Given the description of an element on the screen output the (x, y) to click on. 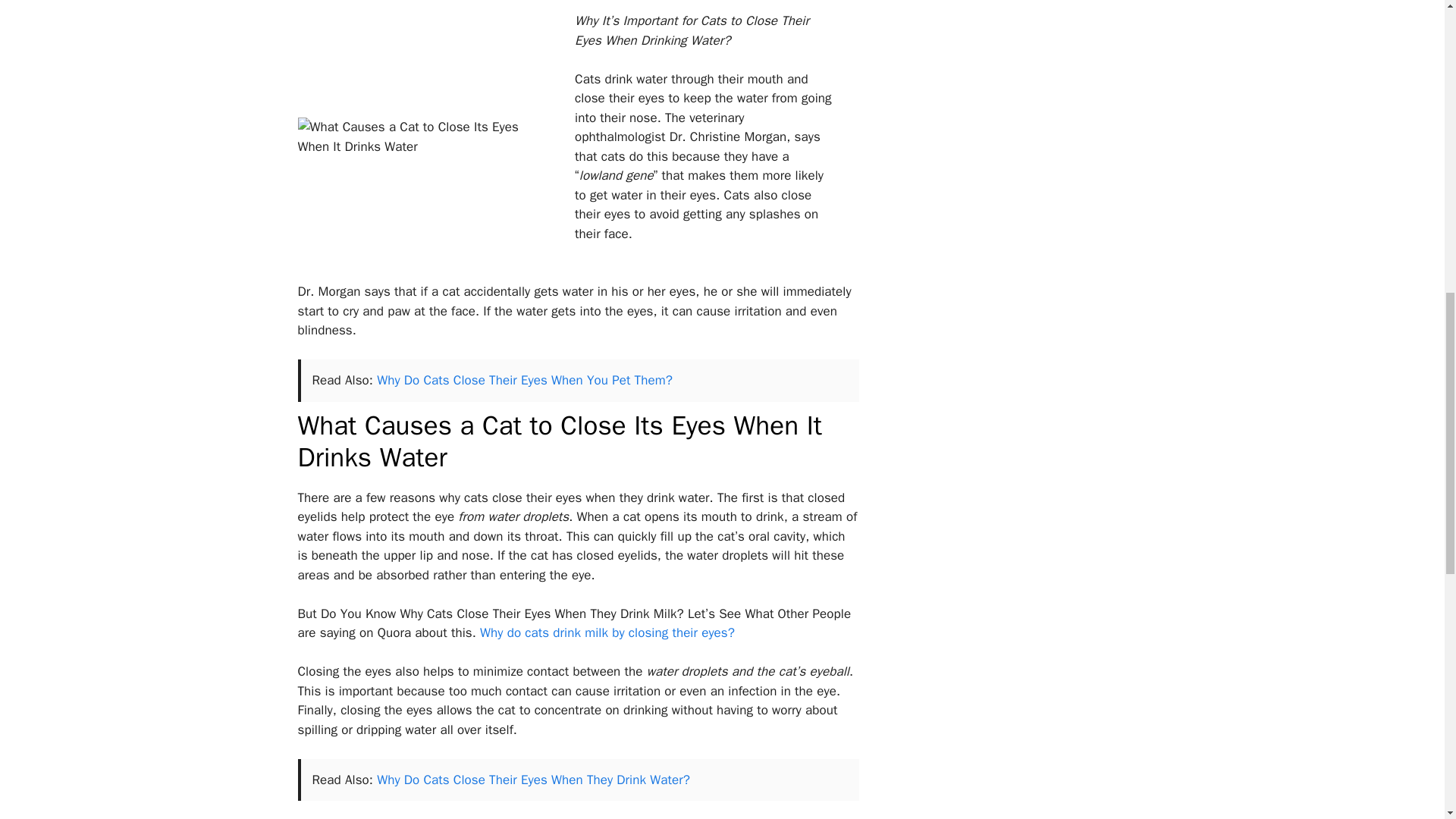
Why Do Cats Close Their Eyes When You Pet Them? (524, 380)
Why Do Cats Close Their Eyes When They Drink Water? (533, 779)
Why do cats drink milk by closing their eyes? (607, 632)
